Given the description of an element on the screen output the (x, y) to click on. 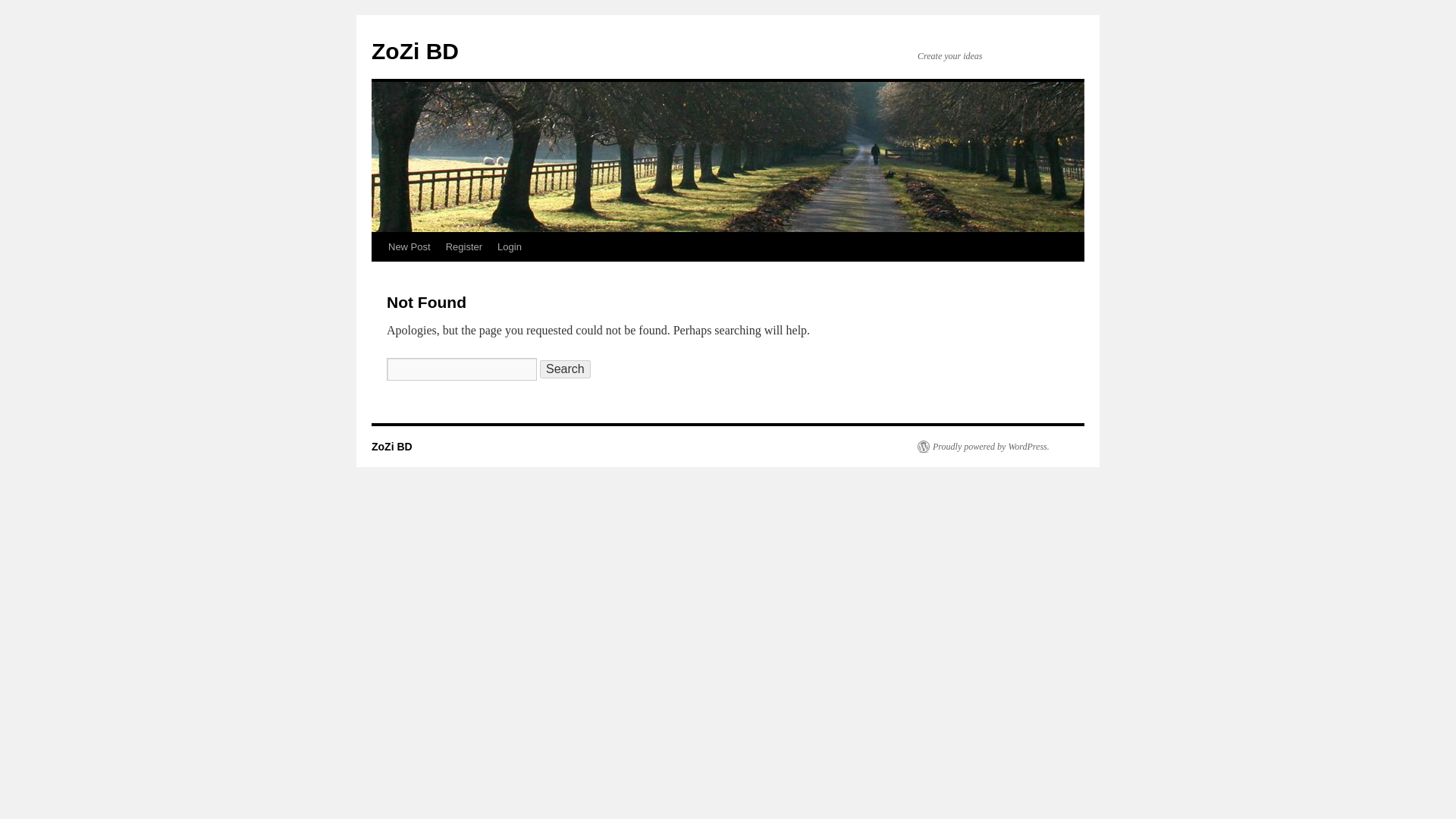
Search (565, 369)
New Post (409, 246)
ZoZi BD (414, 50)
Register (463, 246)
Login (509, 246)
Search (565, 369)
